Given the description of an element on the screen output the (x, y) to click on. 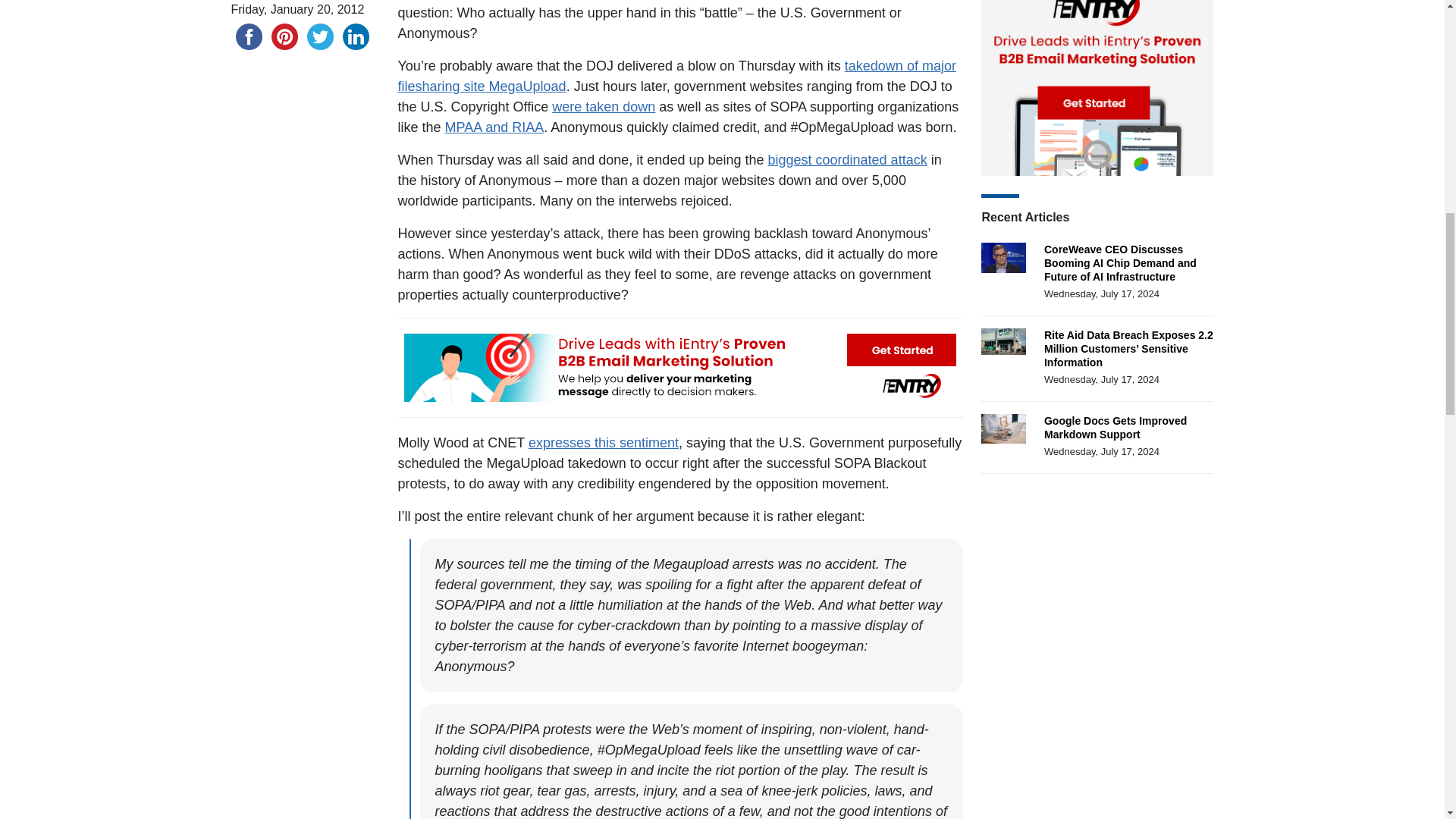
twitter (319, 36)
linkedin (355, 36)
facebook (248, 36)
pinterest (284, 36)
